Given the description of an element on the screen output the (x, y) to click on. 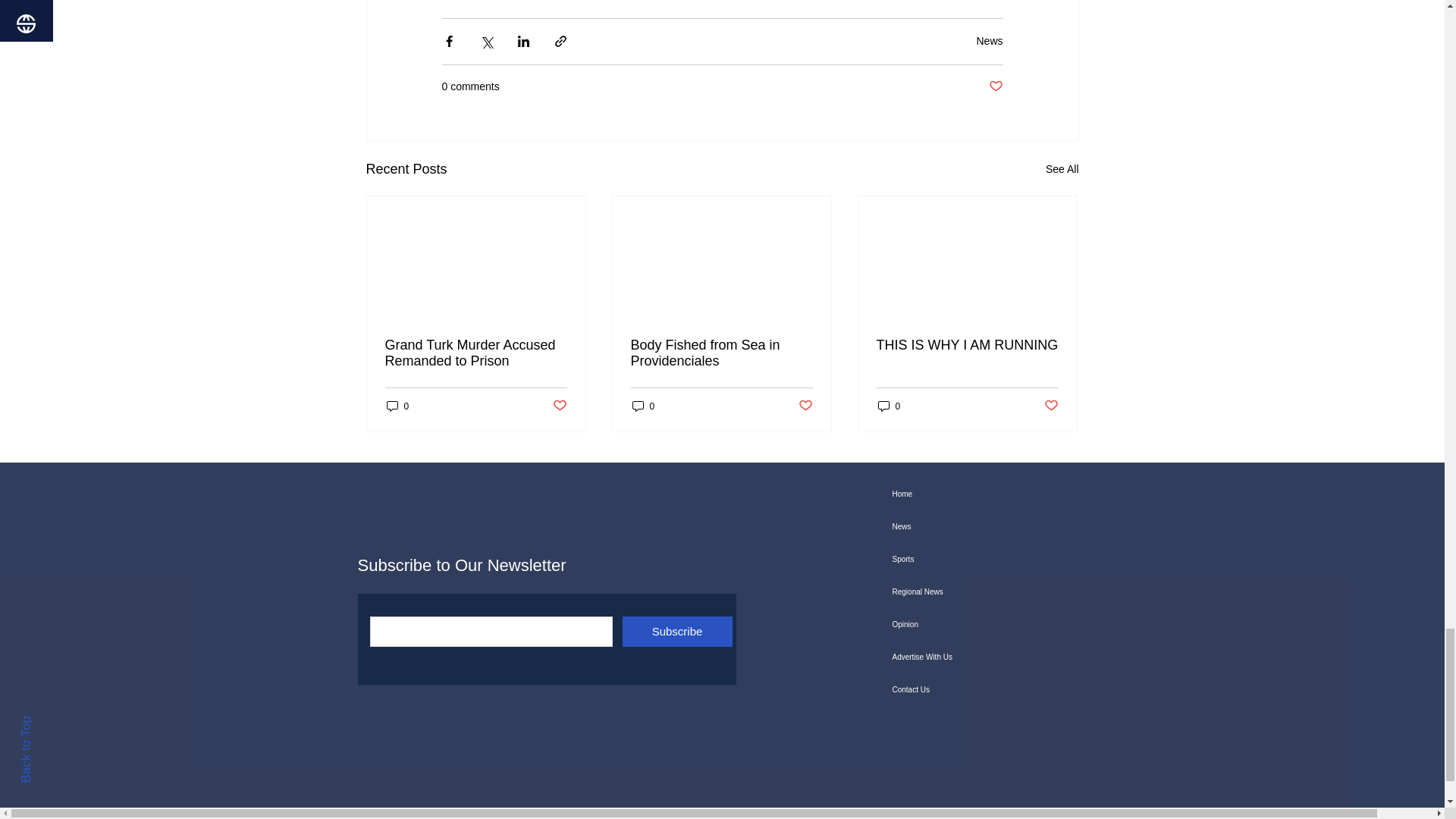
News (989, 40)
Grand Turk Murder Accused Remanded to Prison (476, 353)
Post not marked as liked (558, 406)
Body Fished from Sea in Providenciales (721, 353)
See All (1061, 169)
0 (397, 405)
0 (643, 405)
Post not marked as liked (995, 86)
Post not marked as liked (804, 406)
